Given the description of an element on the screen output the (x, y) to click on. 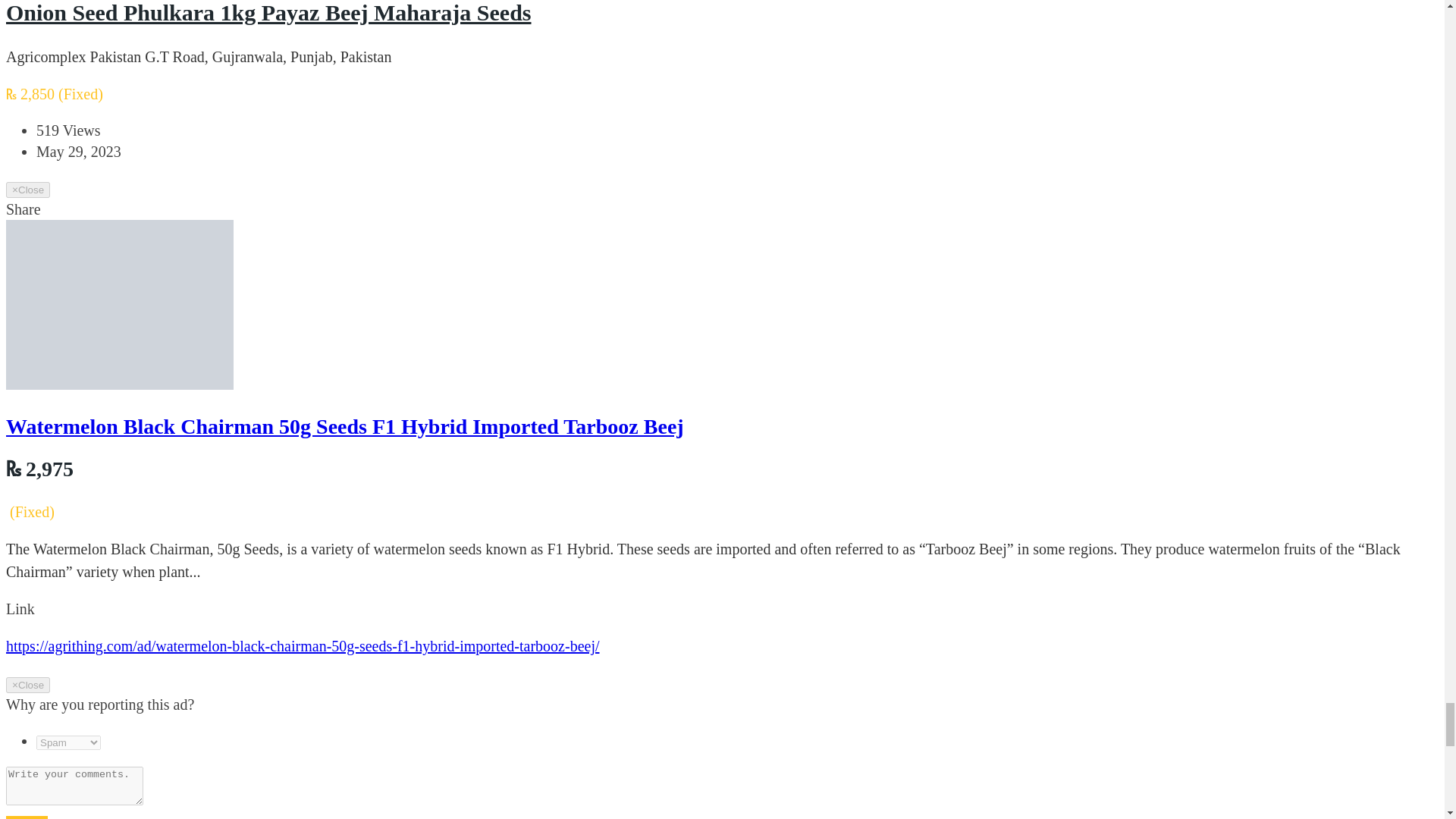
Onion Seed Phulkara 1kg Payaz Beej Maharaja Seeds (268, 12)
